Given the description of an element on the screen output the (x, y) to click on. 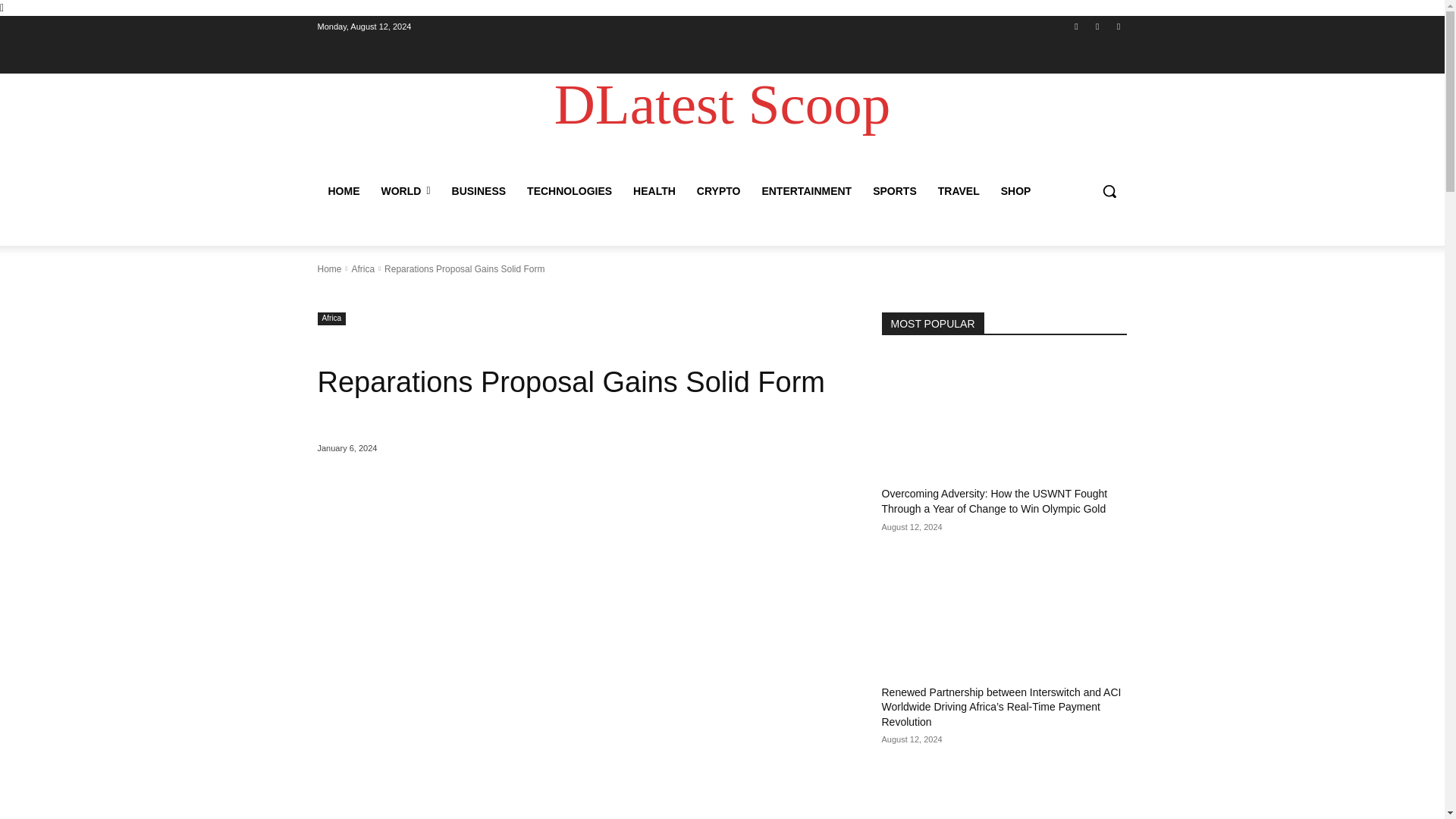
HOME (343, 190)
WORLD (405, 190)
CRYPTO (718, 190)
DLatest Scoop (721, 104)
View all posts in Africa (362, 268)
BUSINESS (478, 190)
Twitter (1117, 27)
SHOP (1016, 190)
Instagram (1097, 27)
SPORTS (894, 190)
